Given the description of an element on the screen output the (x, y) to click on. 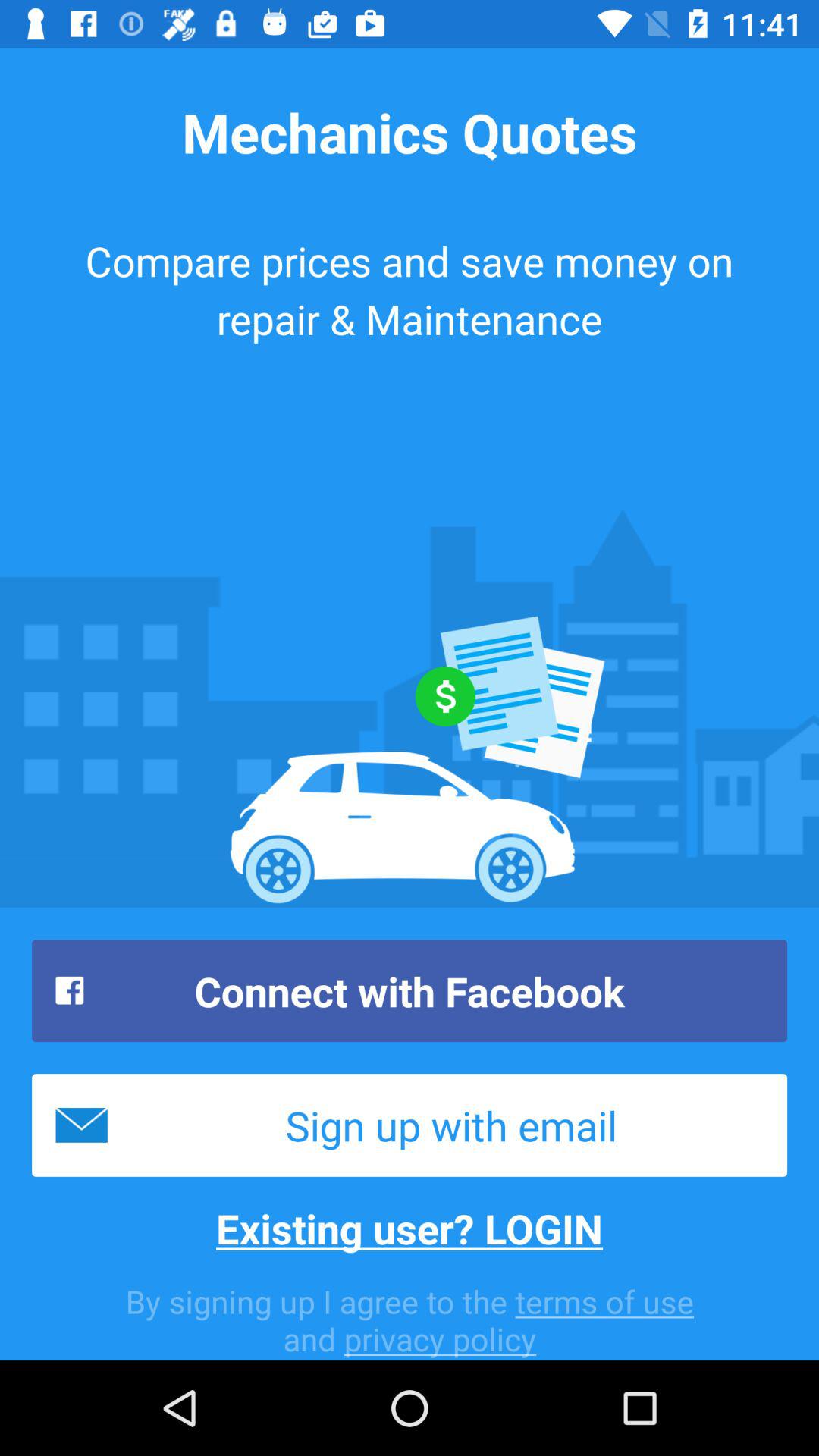
press sign up with (409, 1124)
